Given the description of an element on the screen output the (x, y) to click on. 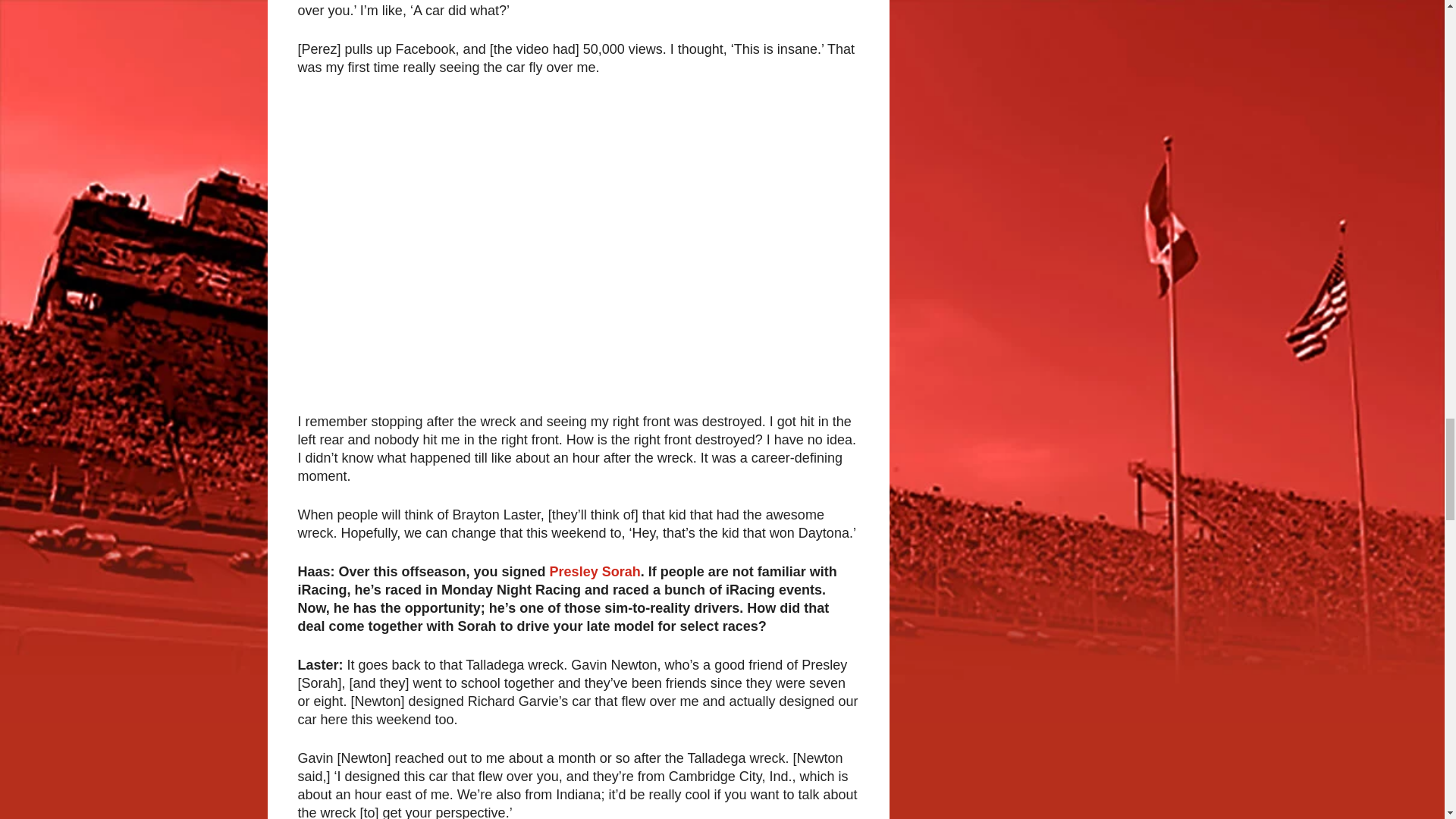
Presley Sorah (595, 571)
